Given the description of an element on the screen output the (x, y) to click on. 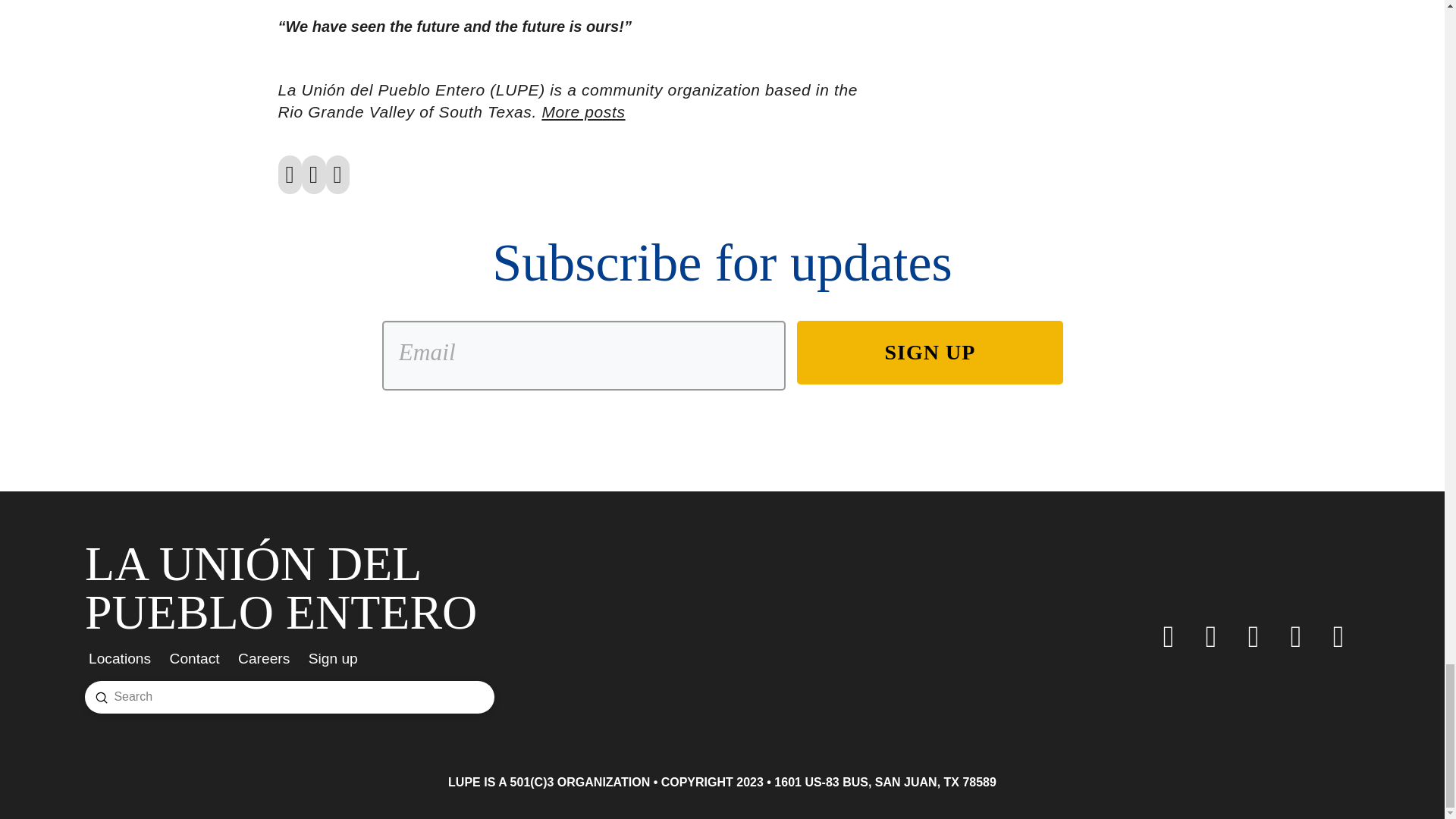
SIGN UP (929, 352)
Submit (101, 697)
Sign up (338, 658)
More posts (582, 111)
Careers (269, 658)
Locations (124, 658)
Contact (199, 658)
